Given the description of an element on the screen output the (x, y) to click on. 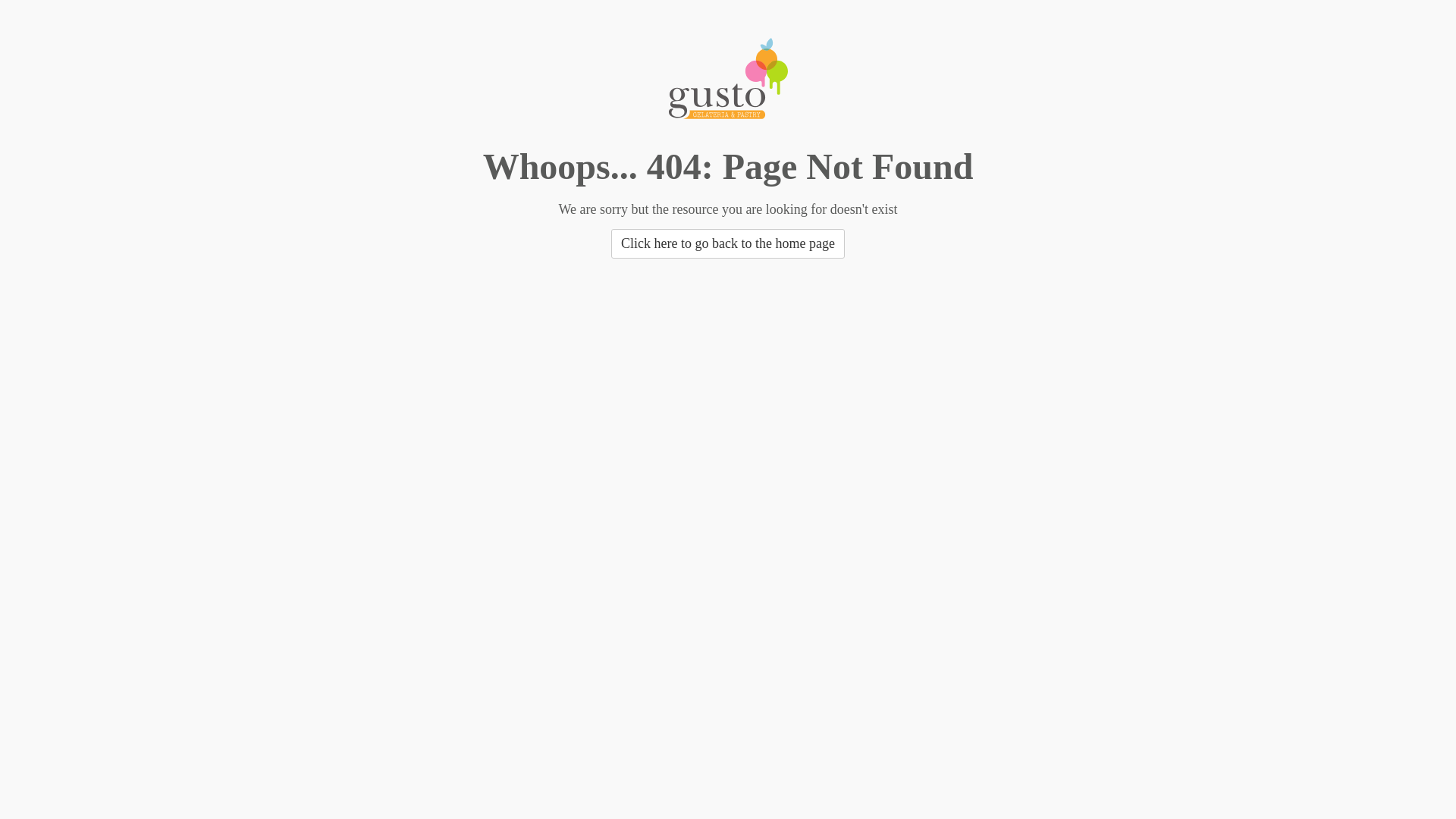
Click here to go back to the home page Element type: text (727, 243)
